Given the description of an element on the screen output the (x, y) to click on. 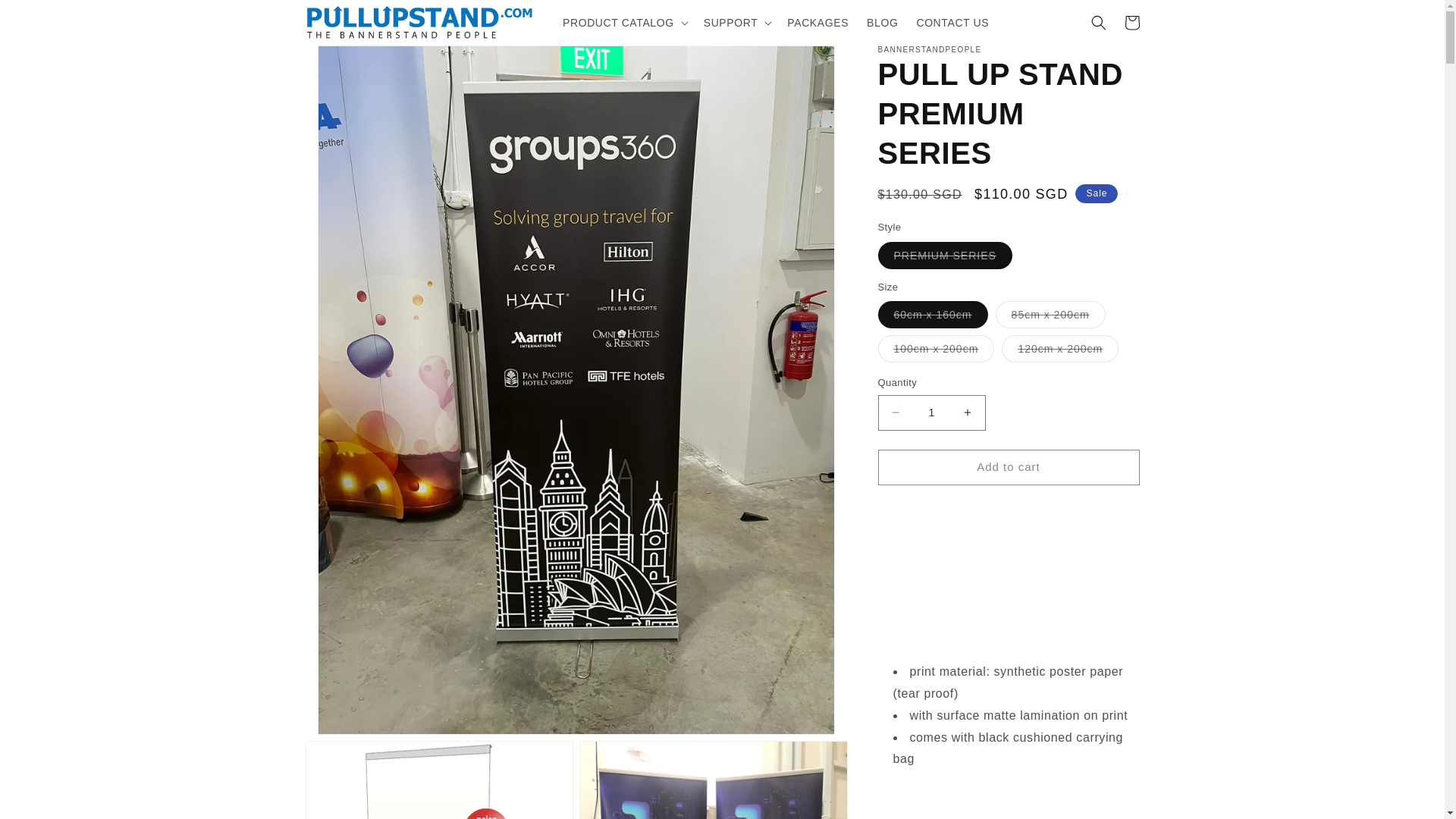
1 (931, 411)
Skip to content (45, 17)
